Given the description of an element on the screen output the (x, y) to click on. 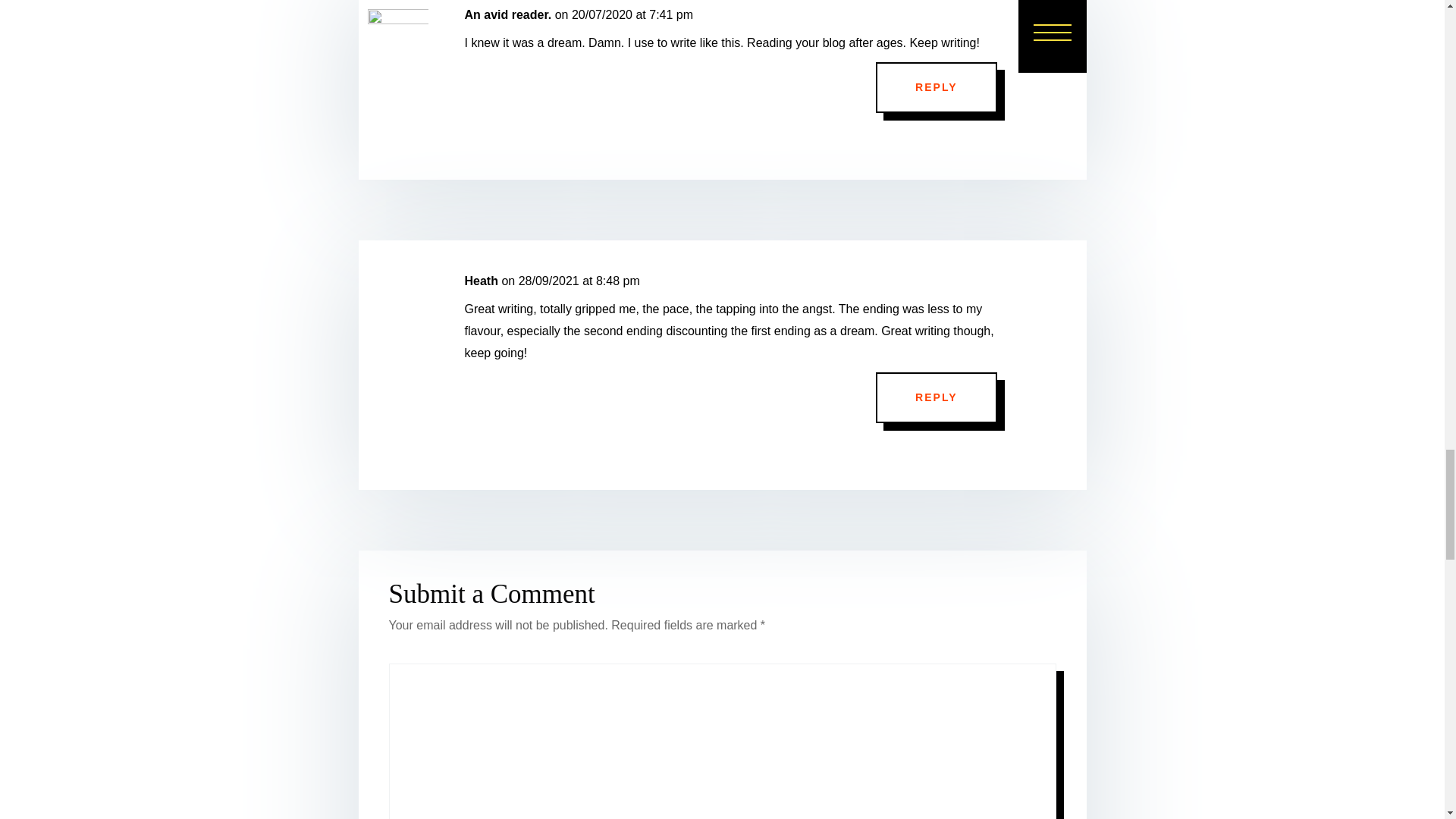
REPLY (935, 87)
An avid reader. (507, 15)
REPLY (935, 398)
